Given the description of an element on the screen output the (x, y) to click on. 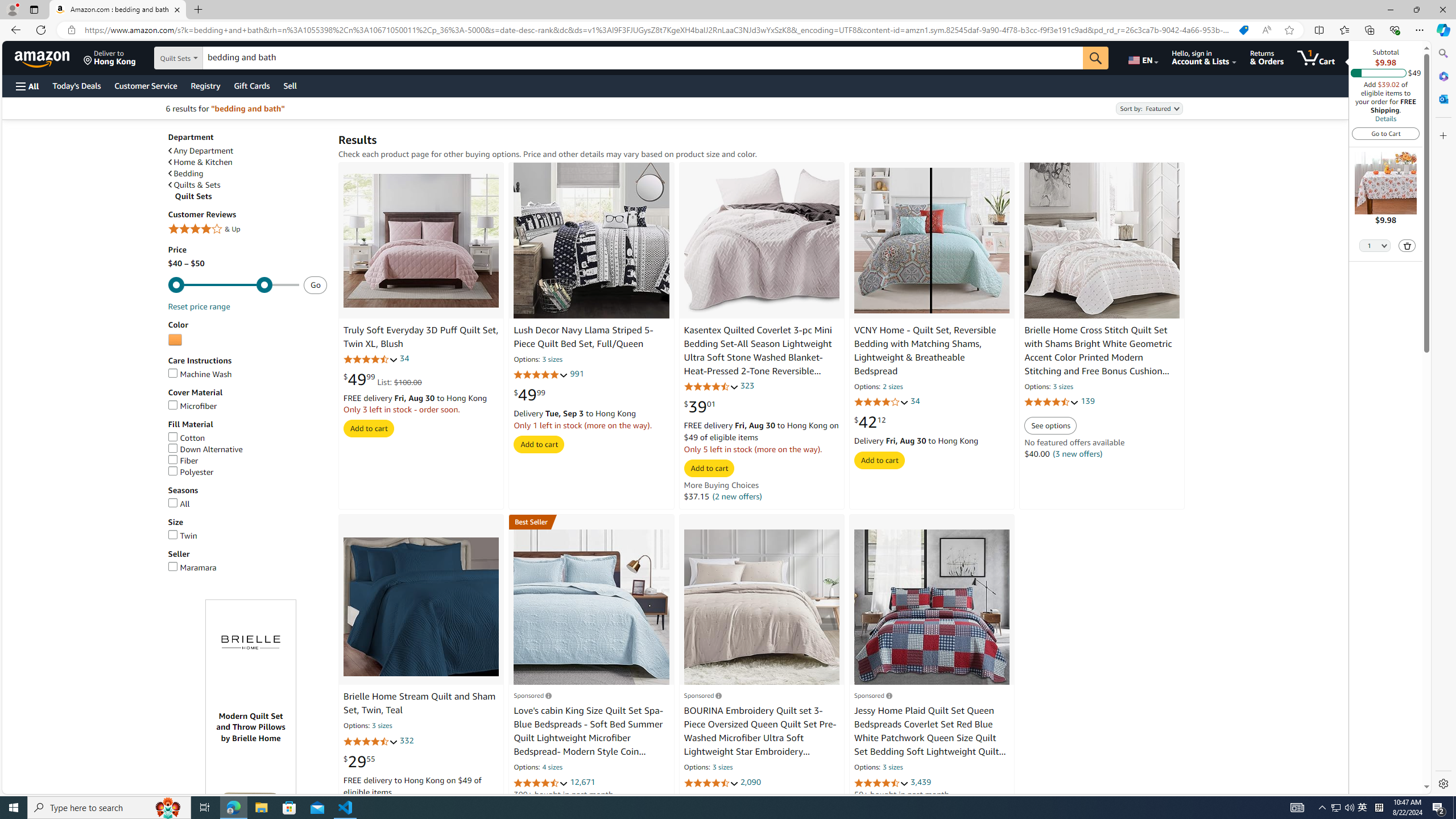
Choose a language for shopping. (1142, 57)
4.3 out of 5 stars (370, 740)
AutomationID: p_n_feature_twenty_browse-bin/3254105011 (174, 340)
Delete (1407, 245)
4.6 out of 5 stars (711, 782)
Microfiber (191, 405)
Truly Soft Everyday 3D Puff Quilt Set, Twin XL, Blush (421, 240)
Truly Soft Everyday 3D Puff Quilt Set, Twin XL, Blush (421, 336)
Go - Submit price range (315, 284)
